Given the description of an element on the screen output the (x, y) to click on. 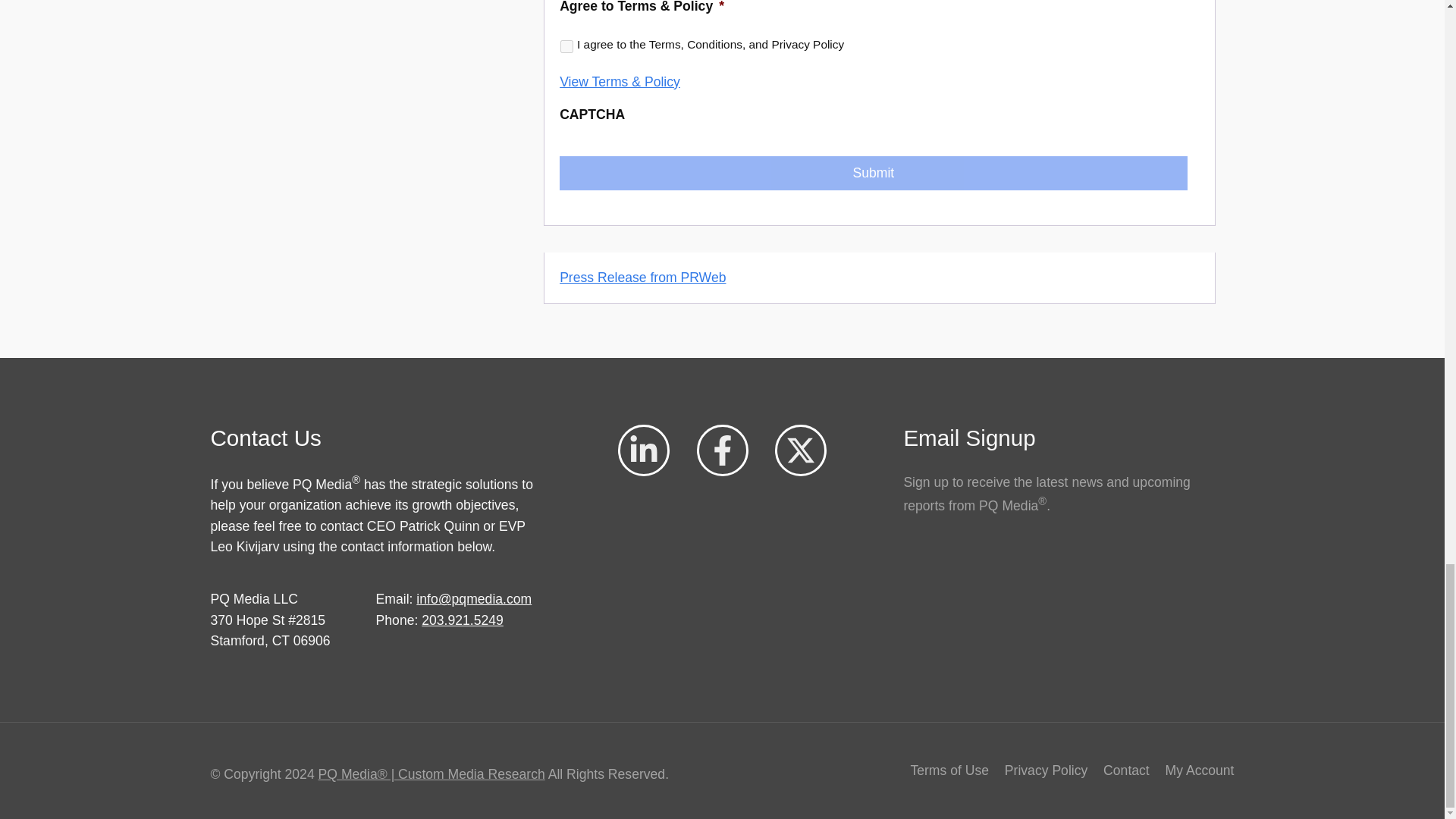
Terms of Use (949, 770)
Submit (872, 173)
Privacy Policy (1045, 770)
Press Release from PRWeb (642, 277)
Submit (872, 173)
I agree to the Terms, Conditions, and Privacy Policy (566, 46)
203.921.5249 (462, 620)
